Given the description of an element on the screen output the (x, y) to click on. 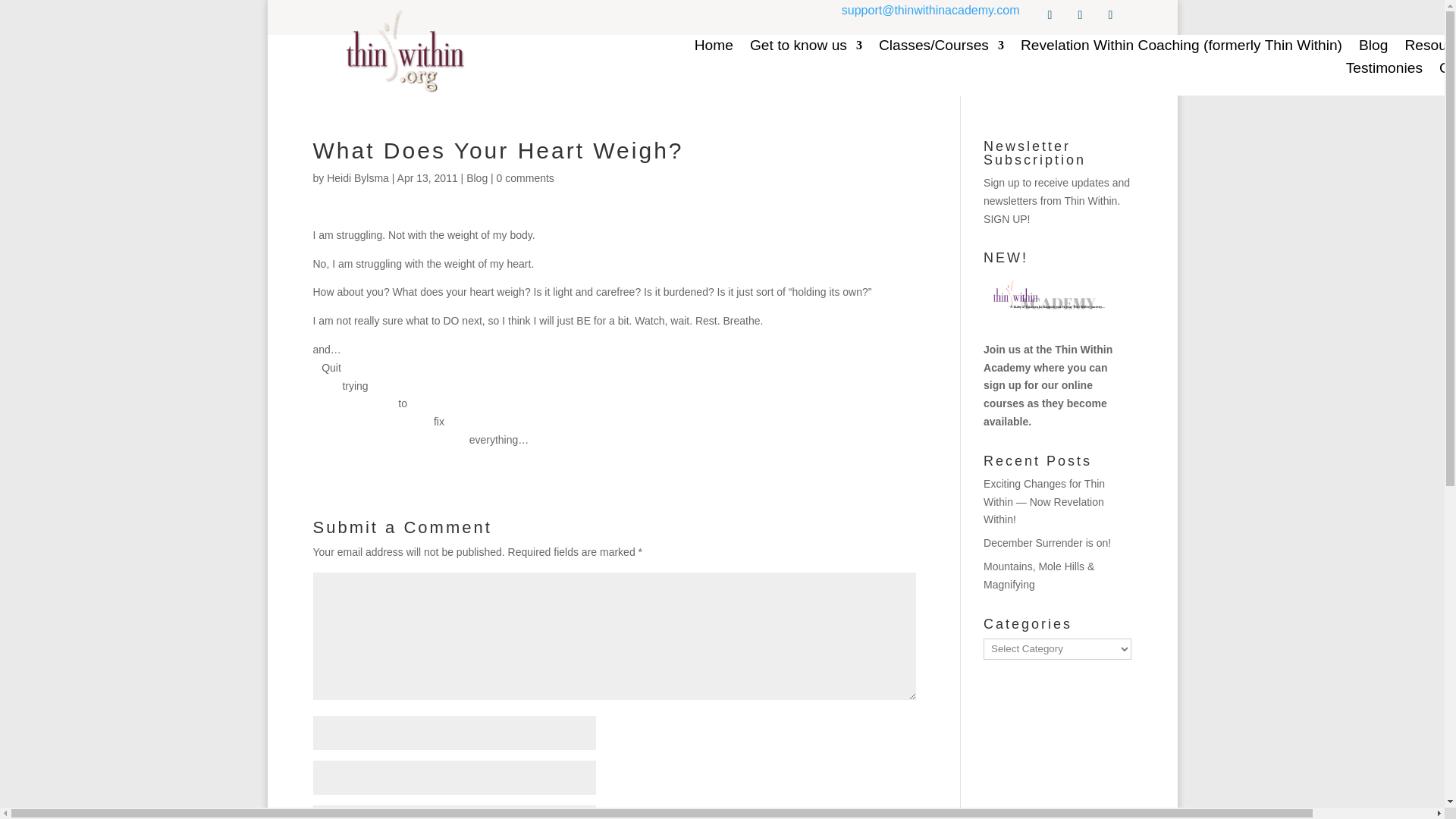
Resources (1430, 47)
Posts by Heidi Bylsma (357, 177)
Contact (1447, 70)
Blog (1372, 47)
Follow on X (1079, 15)
Blog (476, 177)
0 comments (525, 177)
Home (713, 47)
logo (405, 51)
Heidi Bylsma (357, 177)
Get to know us (805, 47)
Testimonies (1383, 70)
Follow on Instagram (1048, 15)
Follow on Facebook (1109, 15)
